Given the description of an element on the screen output the (x, y) to click on. 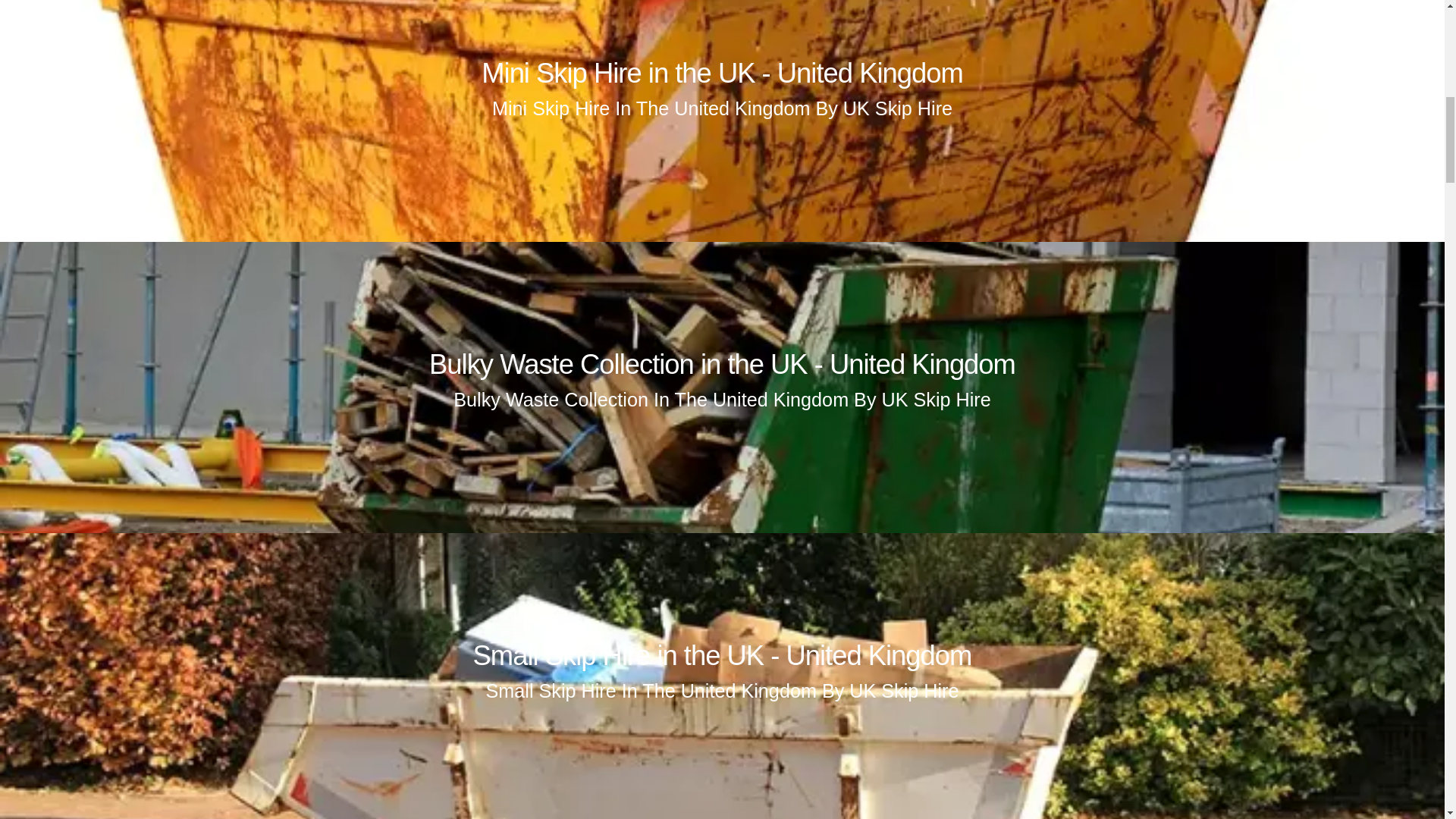
Bulky Waste Collection in the UK - United Kingdom (721, 364)
Mini Skip Hire in the UK - United Kingdom (721, 72)
Small Skip Hire in the UK - United Kingdom (722, 654)
